Given the description of an element on the screen output the (x, y) to click on. 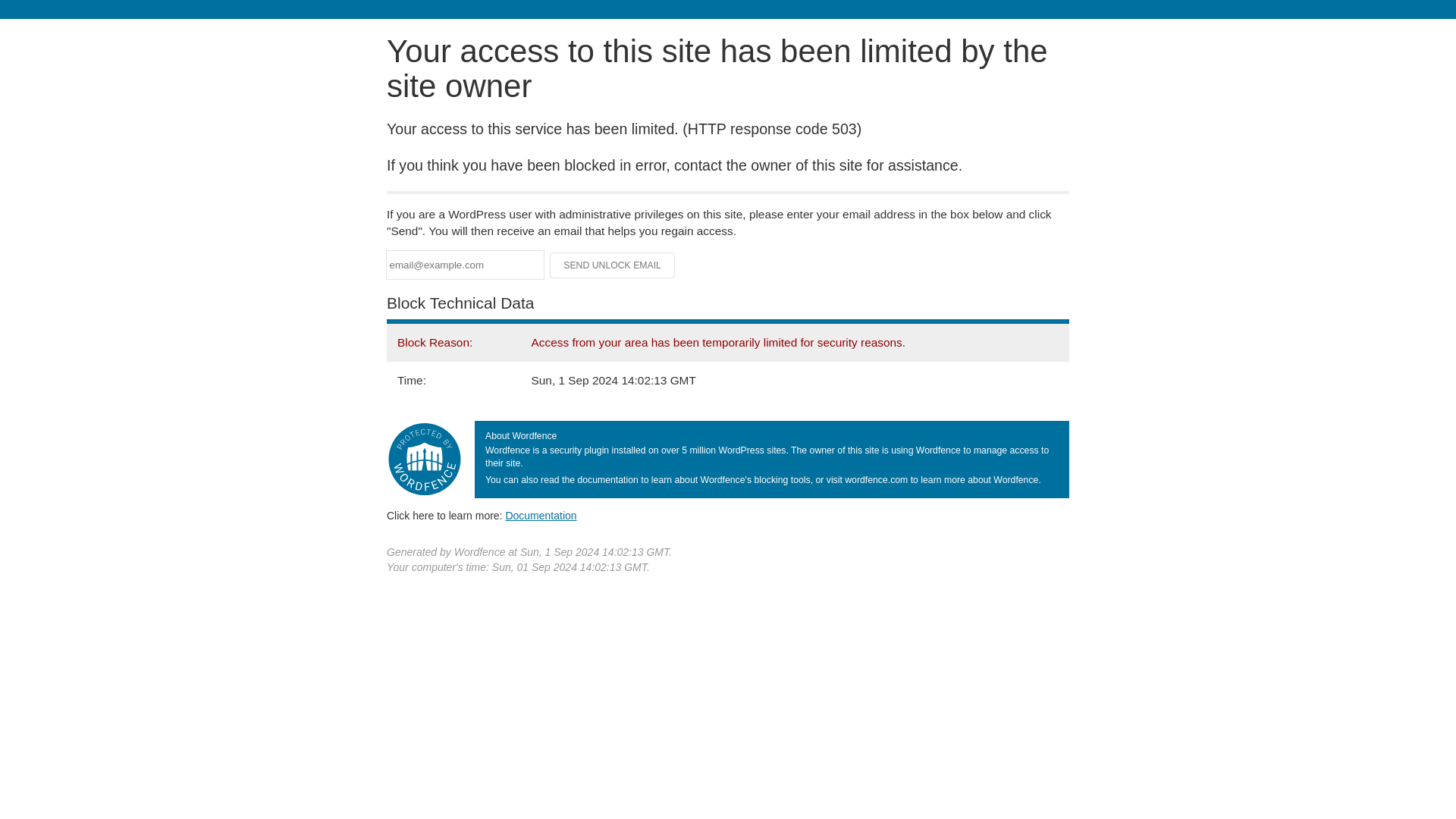
Send Unlock Email (612, 265)
Documentation (540, 515)
Send Unlock Email (612, 265)
